Given the description of an element on the screen output the (x, y) to click on. 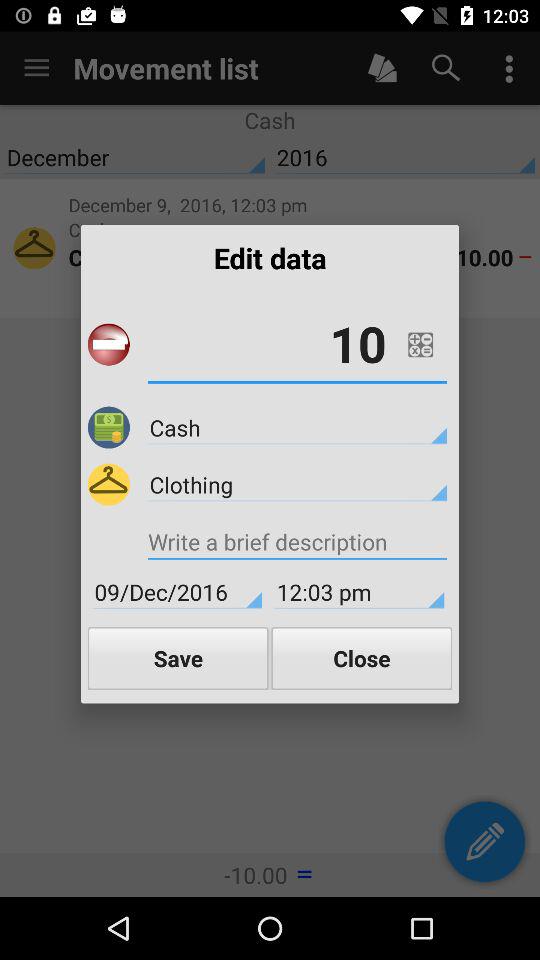
open icon below clothing item (297, 544)
